Given the description of an element on the screen output the (x, y) to click on. 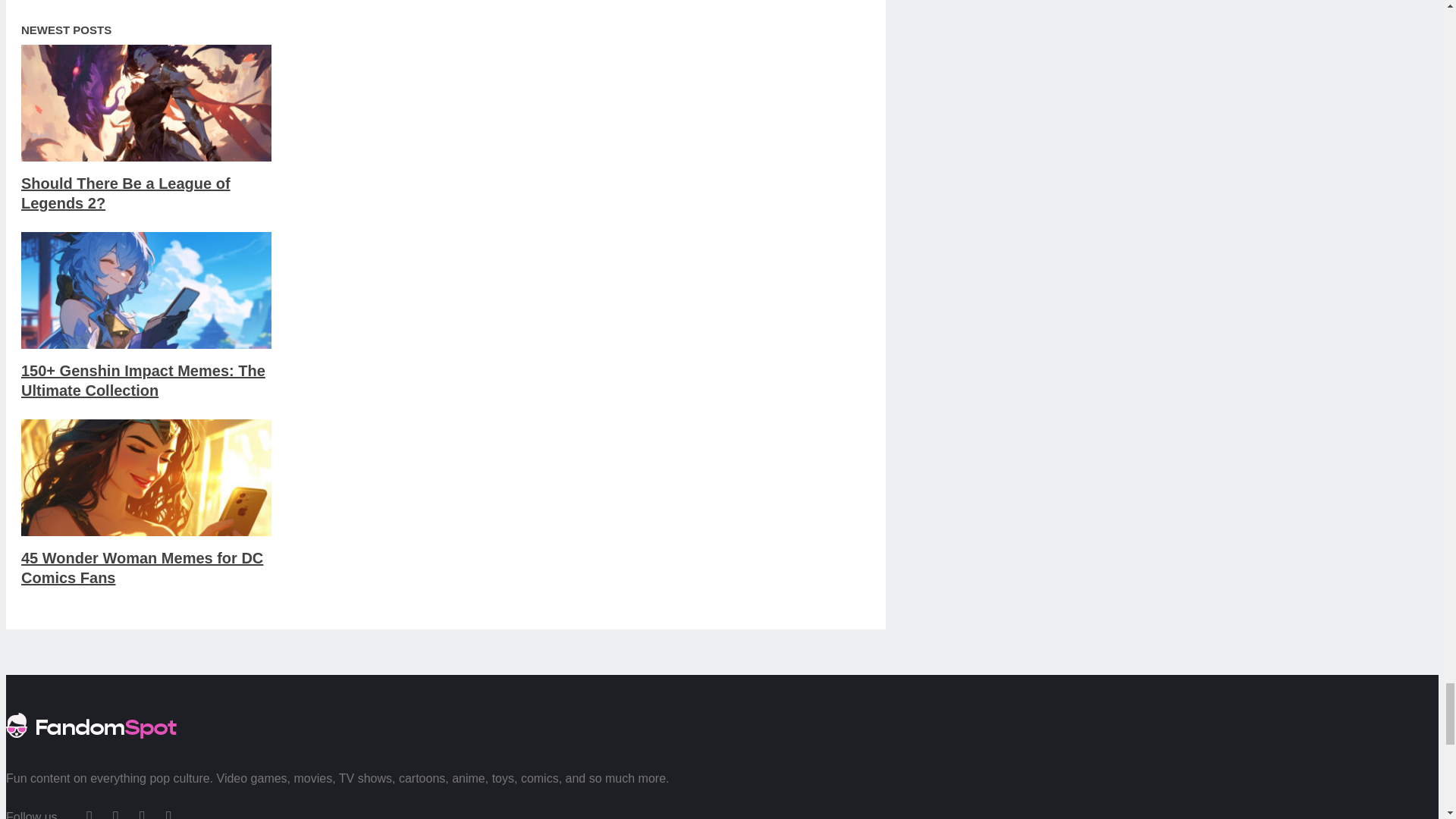
FandomSpot (90, 743)
